Given the description of an element on the screen output the (x, y) to click on. 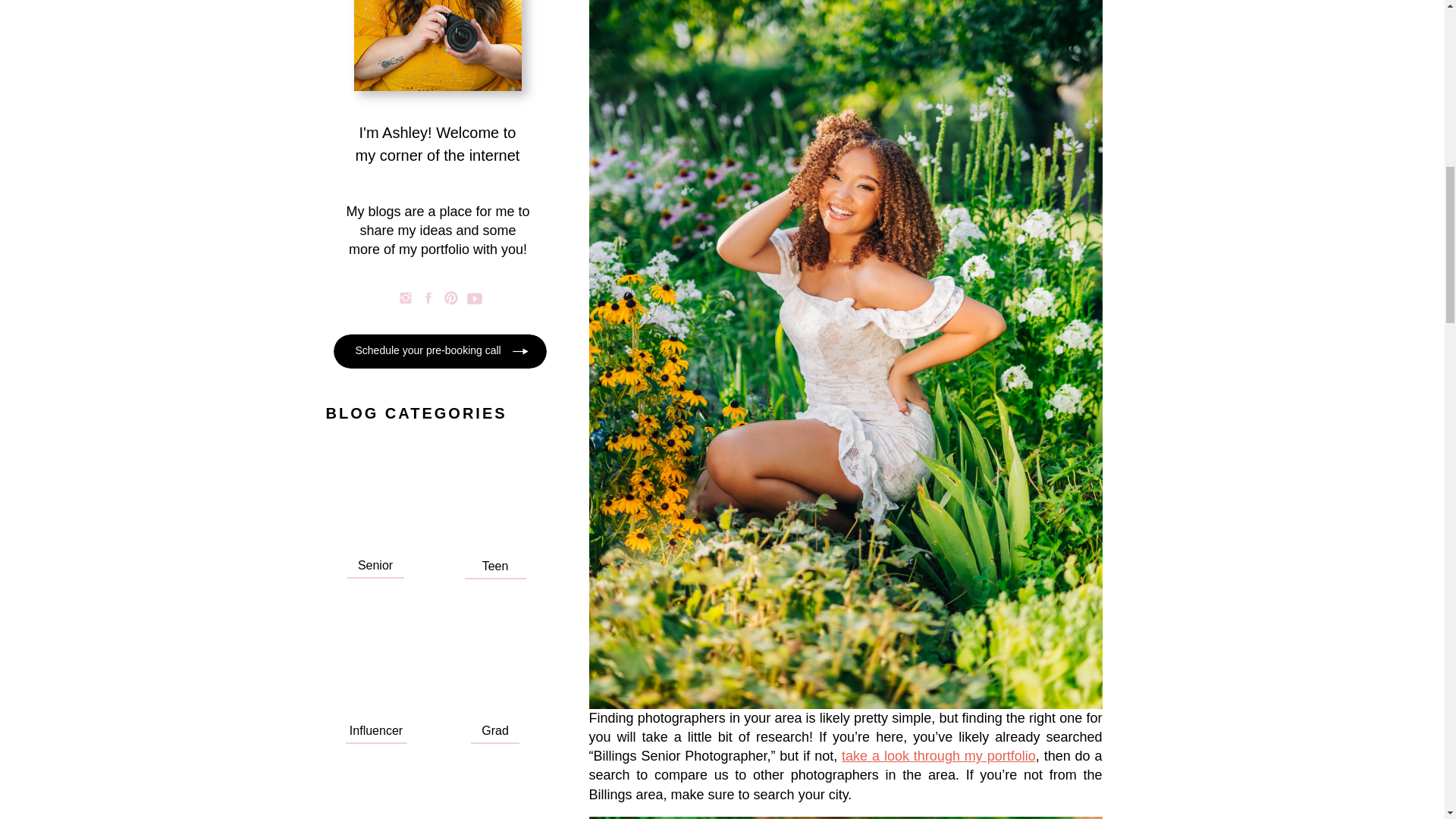
Grad (495, 729)
take a look through my portfolio (938, 755)
Influencer (375, 729)
Schedule your pre-booking call (432, 351)
Teen (495, 564)
Senior (375, 563)
